Given the description of an element on the screen output the (x, y) to click on. 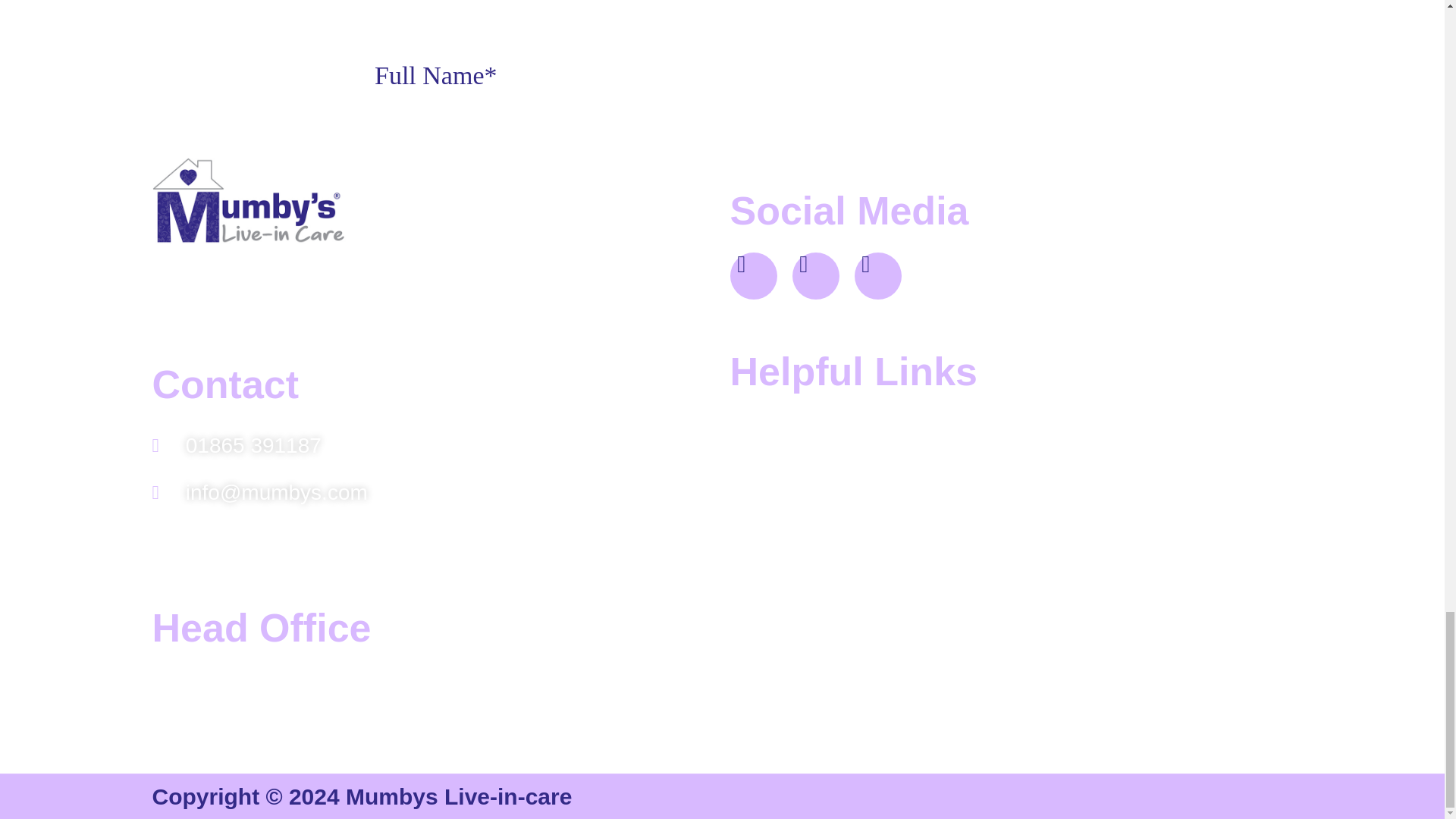
Arrange Care Form (721, 46)
